Given the description of an element on the screen output the (x, y) to click on. 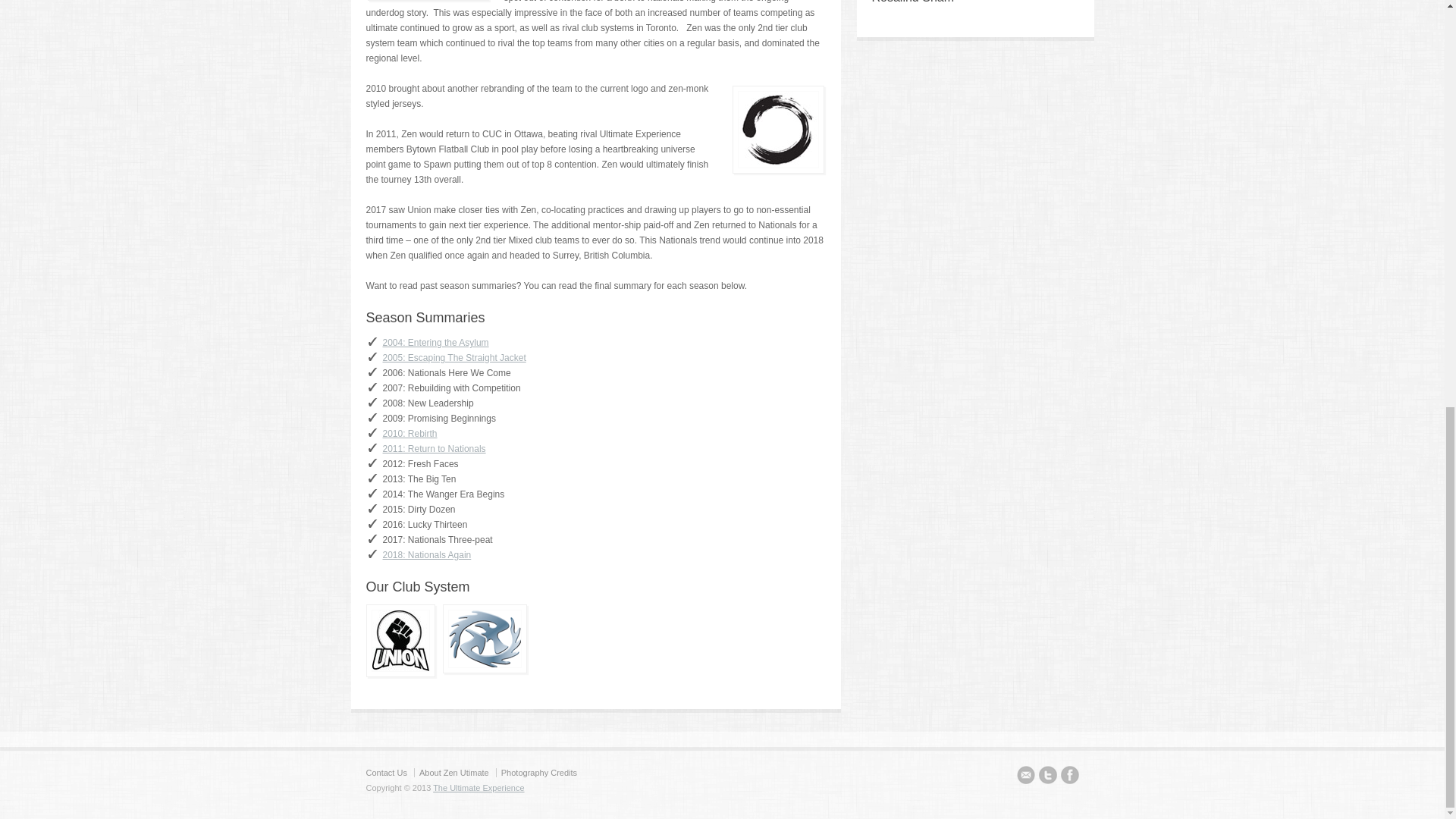
Current Logo (777, 129)
Mars Meet Venus Ultimate (483, 638)
Email (1024, 776)
2018 Season Summary (425, 554)
Rosalind Sham (913, 2)
2010 Season Summary (408, 433)
2011 Season Summary (432, 448)
Union Ultimate (400, 640)
